Given the description of an element on the screen output the (x, y) to click on. 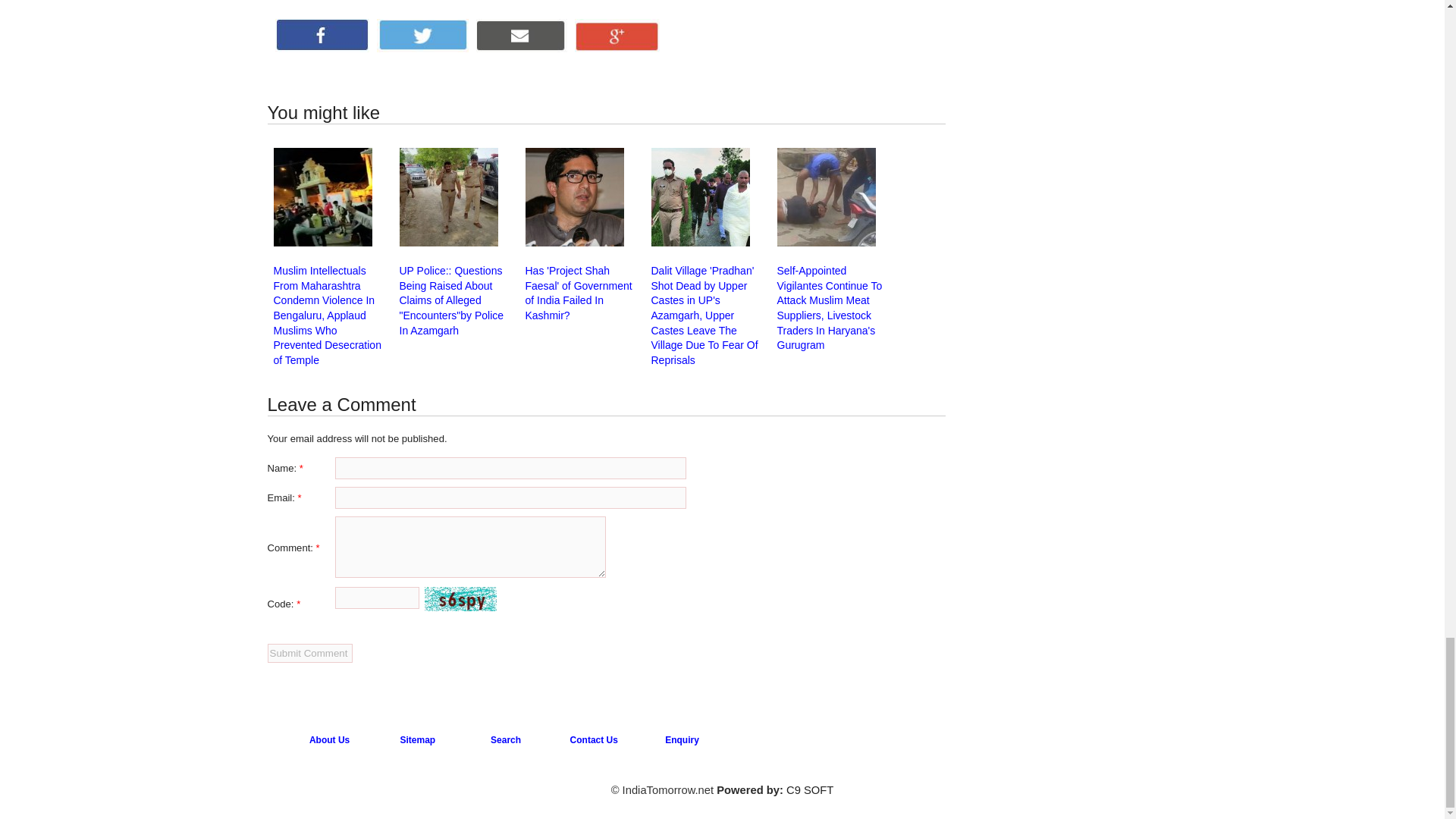
Submit Comment (309, 652)
